Given the description of an element on the screen output the (x, y) to click on. 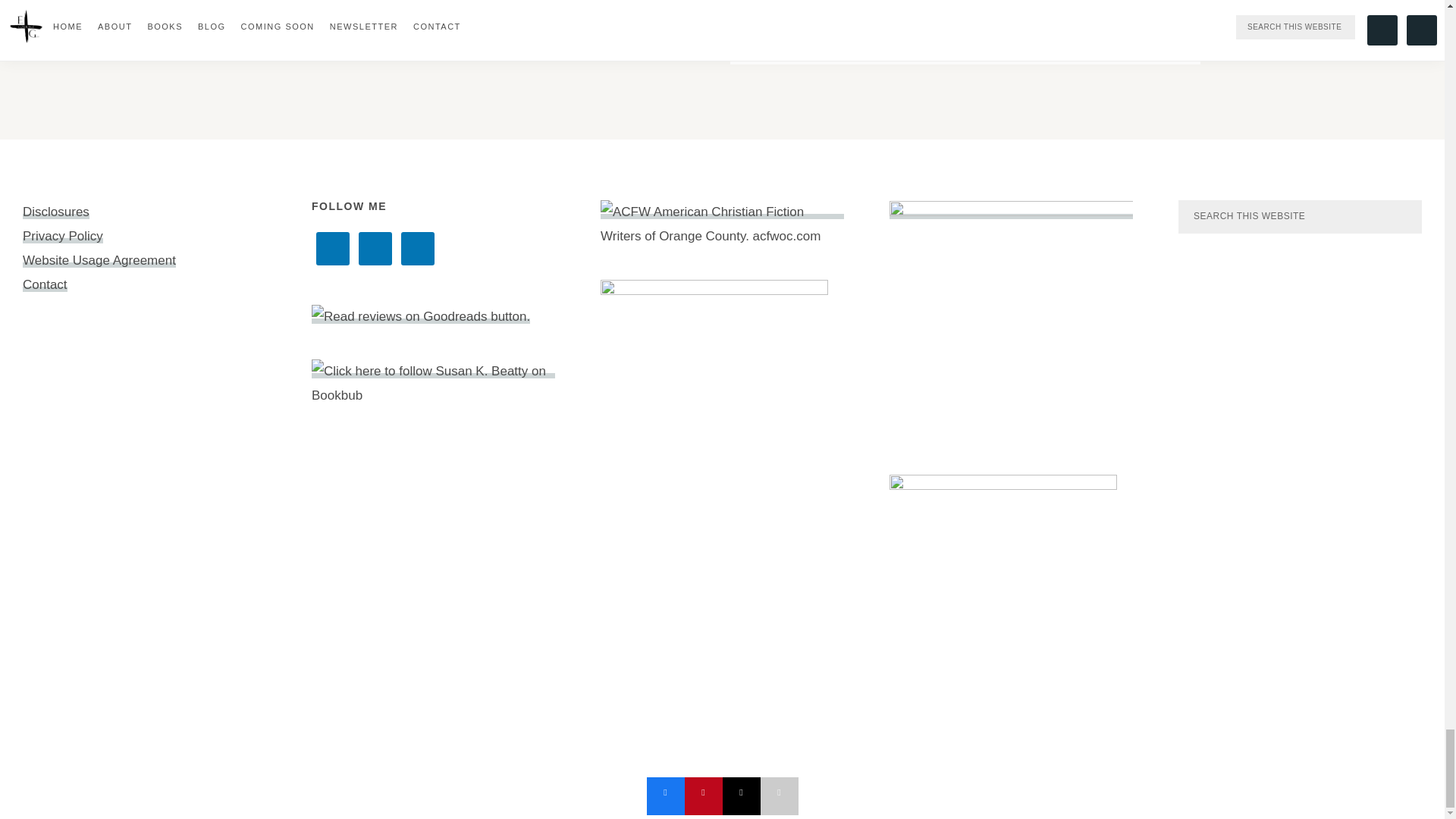
Go (479, 5)
